Given the description of an element on the screen output the (x, y) to click on. 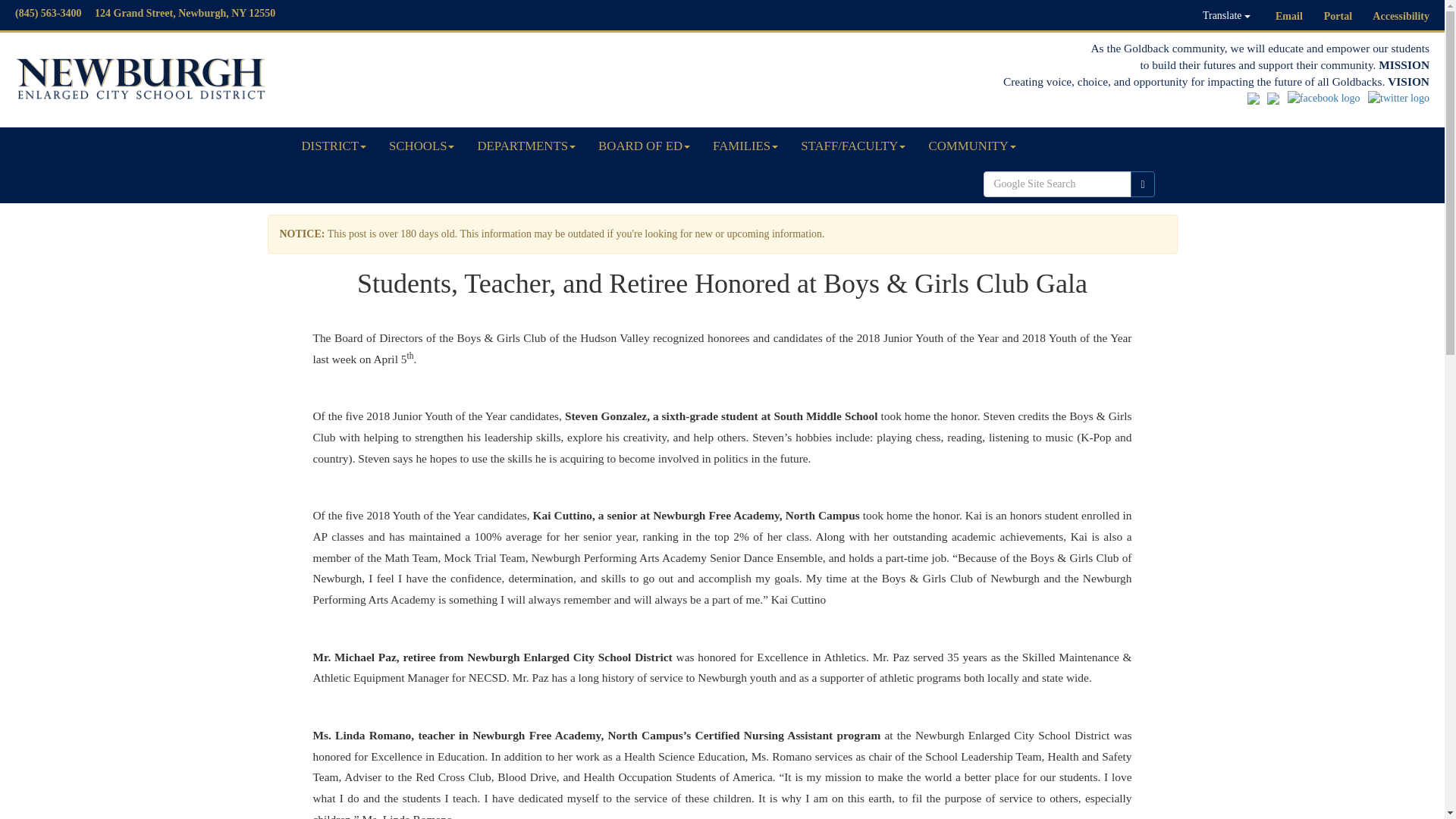
DISTRICT (333, 146)
Email (1289, 16)
Accessibility (1401, 16)
Portal (1337, 16)
Translate (1226, 15)
SCHOOLS (421, 146)
